Given the description of an element on the screen output the (x, y) to click on. 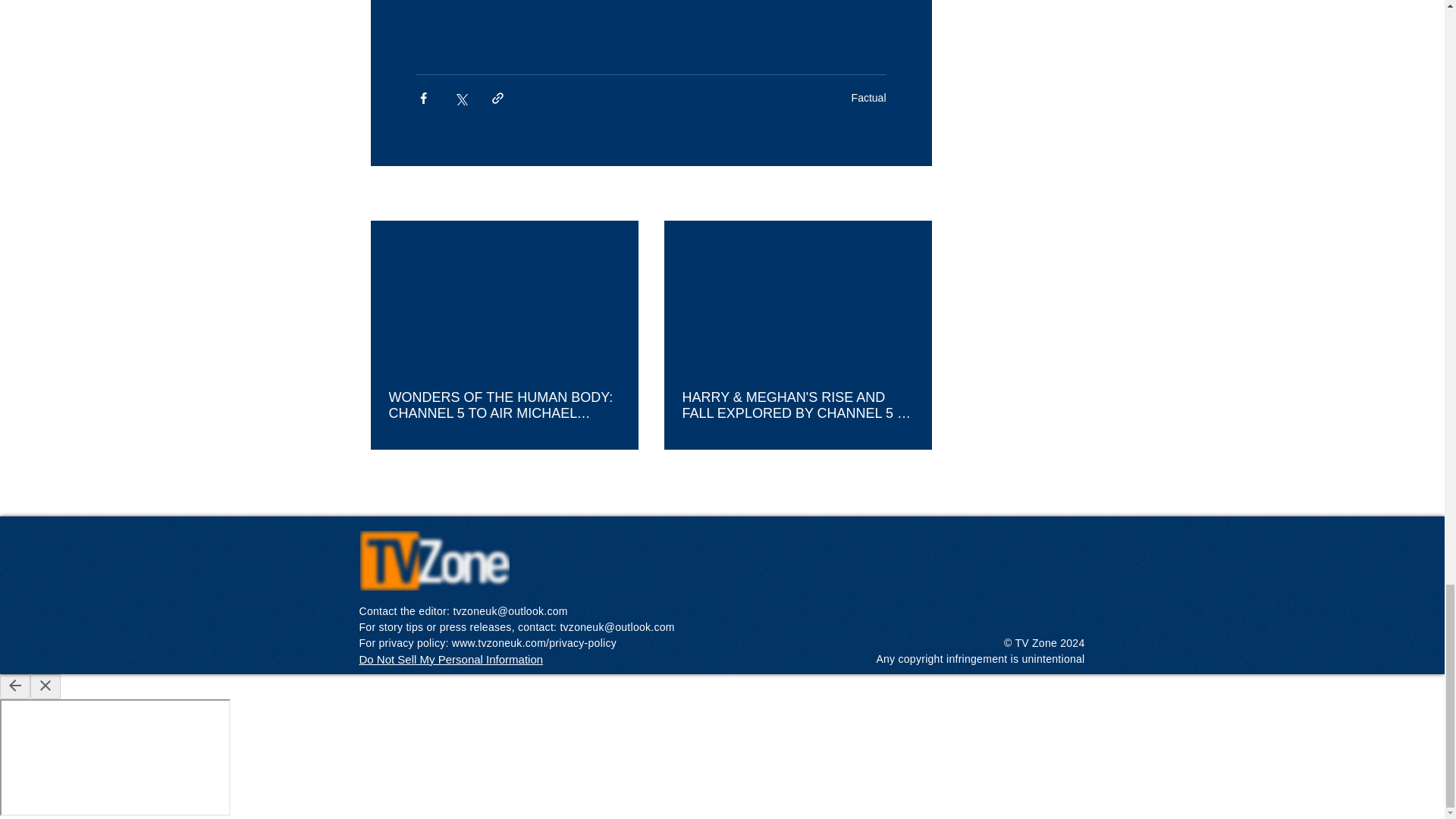
See All (914, 194)
Factual (868, 97)
